Given the description of an element on the screen output the (x, y) to click on. 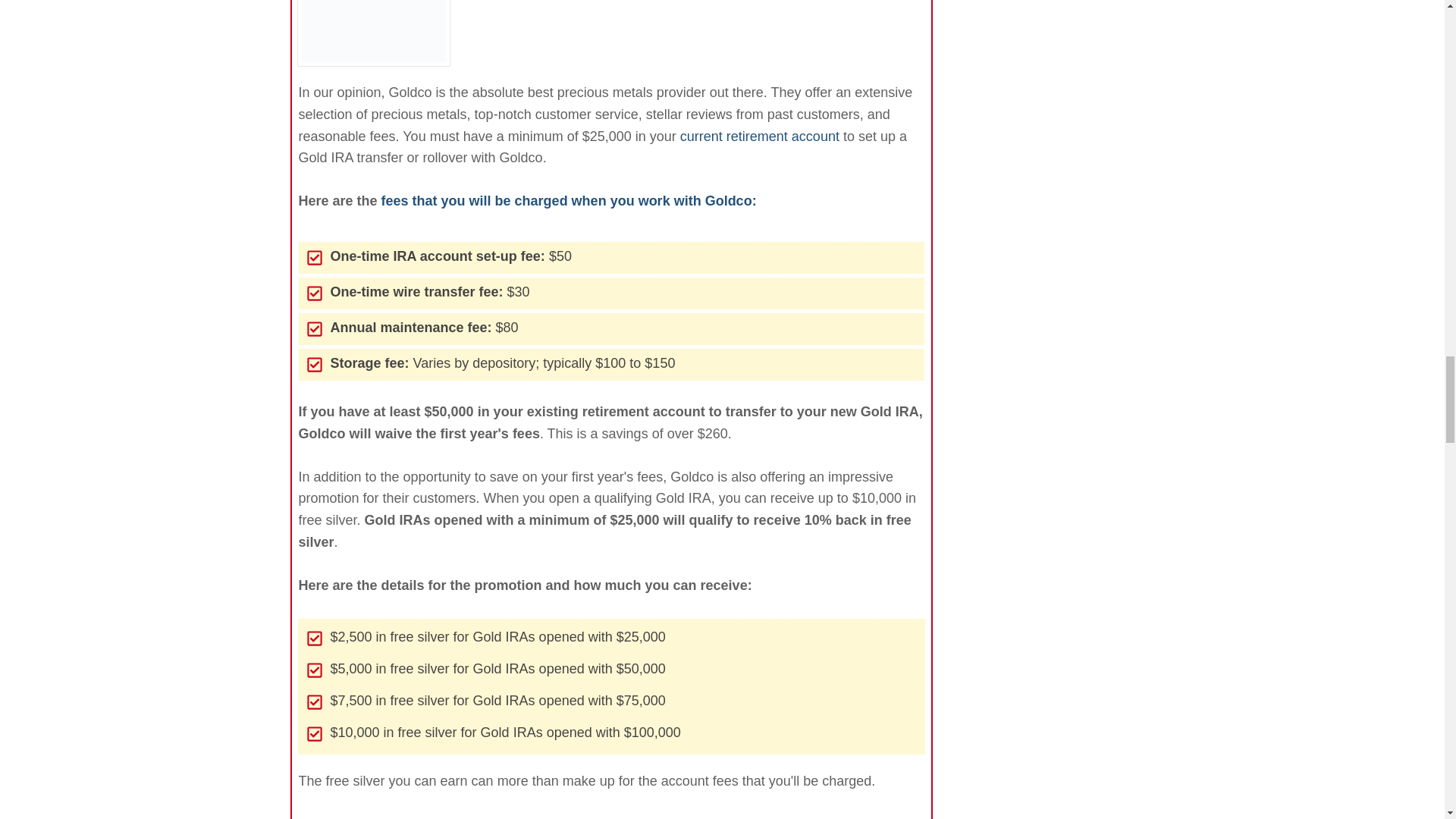
Goldco (373, 31)
fees that you will be charged when you work with Goldco: (569, 200)
current retirement account (759, 136)
